Given the description of an element on the screen output the (x, y) to click on. 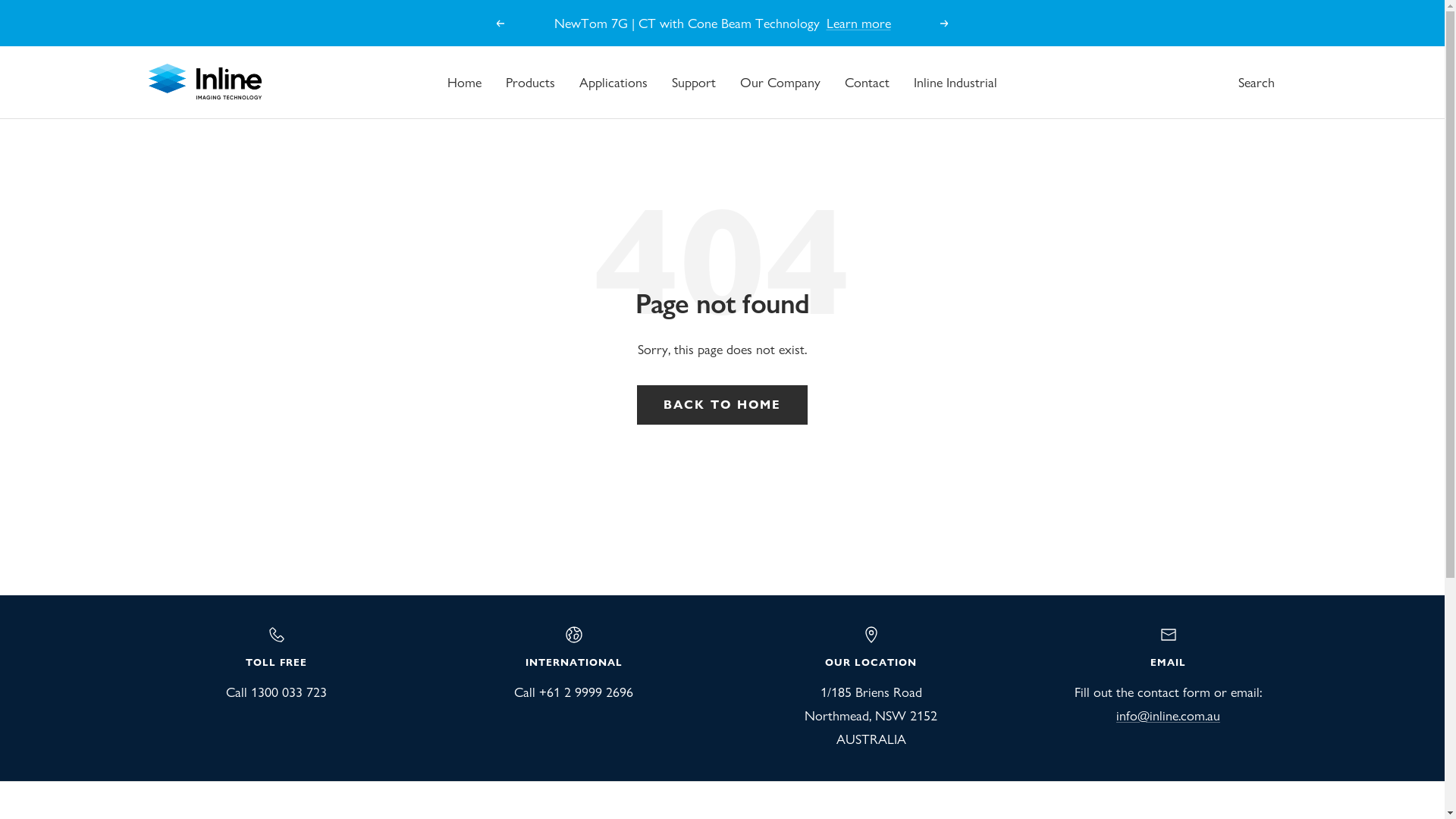
Learn more Element type: text (858, 28)
Home Element type: text (464, 82)
Applications Element type: text (613, 82)
Contact Element type: text (866, 82)
Search Element type: text (1255, 82)
Previous Element type: text (499, 23)
Inline Systems Element type: text (204, 82)
Support Element type: text (693, 82)
Next Element type: text (944, 23)
Inline Industrial Element type: text (955, 82)
Products Element type: text (530, 82)
info@inline.com.au Element type: text (1168, 715)
Our Company Element type: text (780, 82)
BACK TO HOME Element type: text (722, 404)
